Given the description of an element on the screen output the (x, y) to click on. 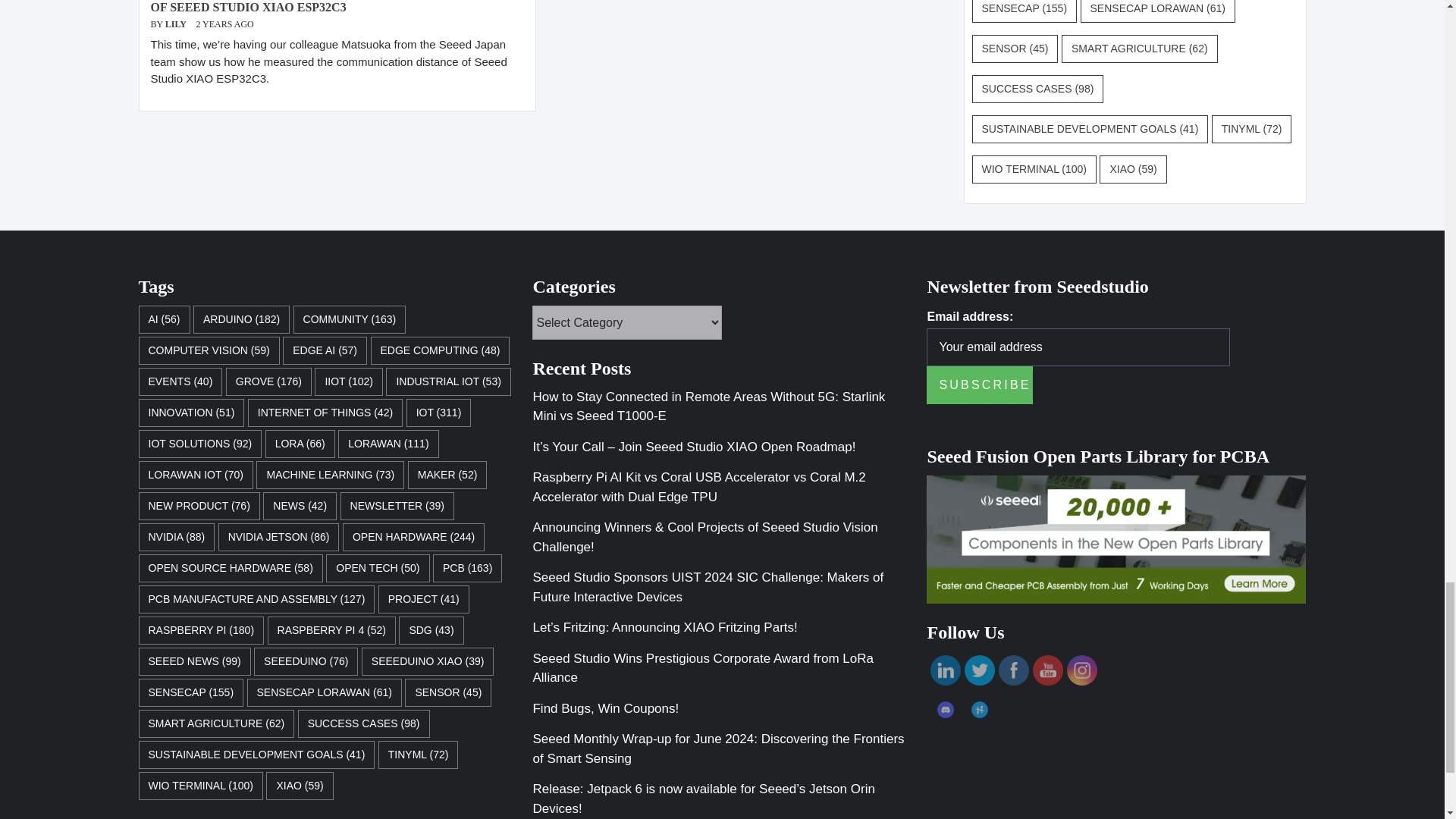
Subscribe now (979, 385)
